Given the description of an element on the screen output the (x, y) to click on. 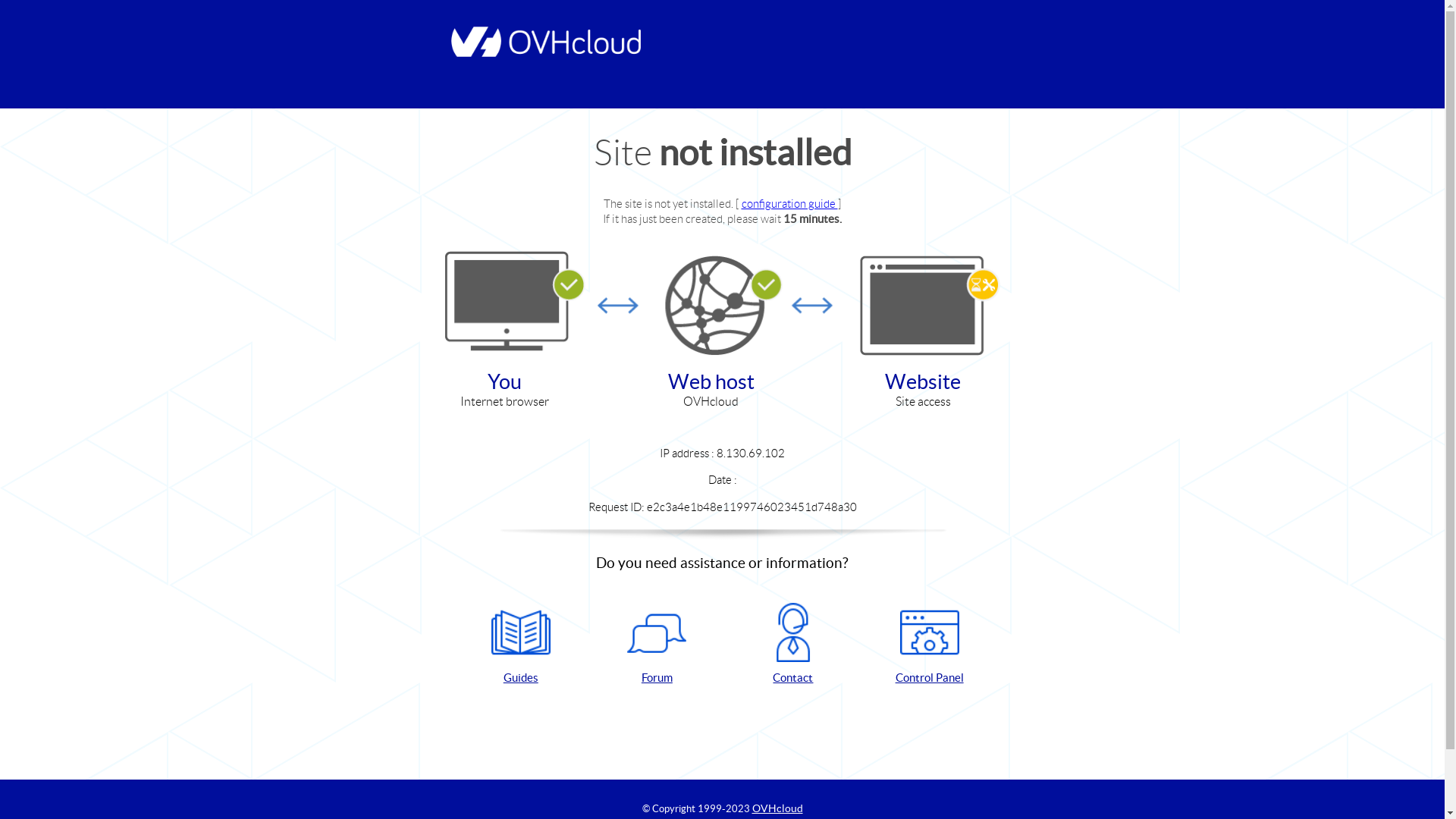
OVHcloud Element type: text (777, 808)
Forum Element type: text (656, 644)
Guides Element type: text (520, 644)
configuration guide Element type: text (789, 203)
Control Panel Element type: text (929, 644)
Contact Element type: text (792, 644)
